Given the description of an element on the screen output the (x, y) to click on. 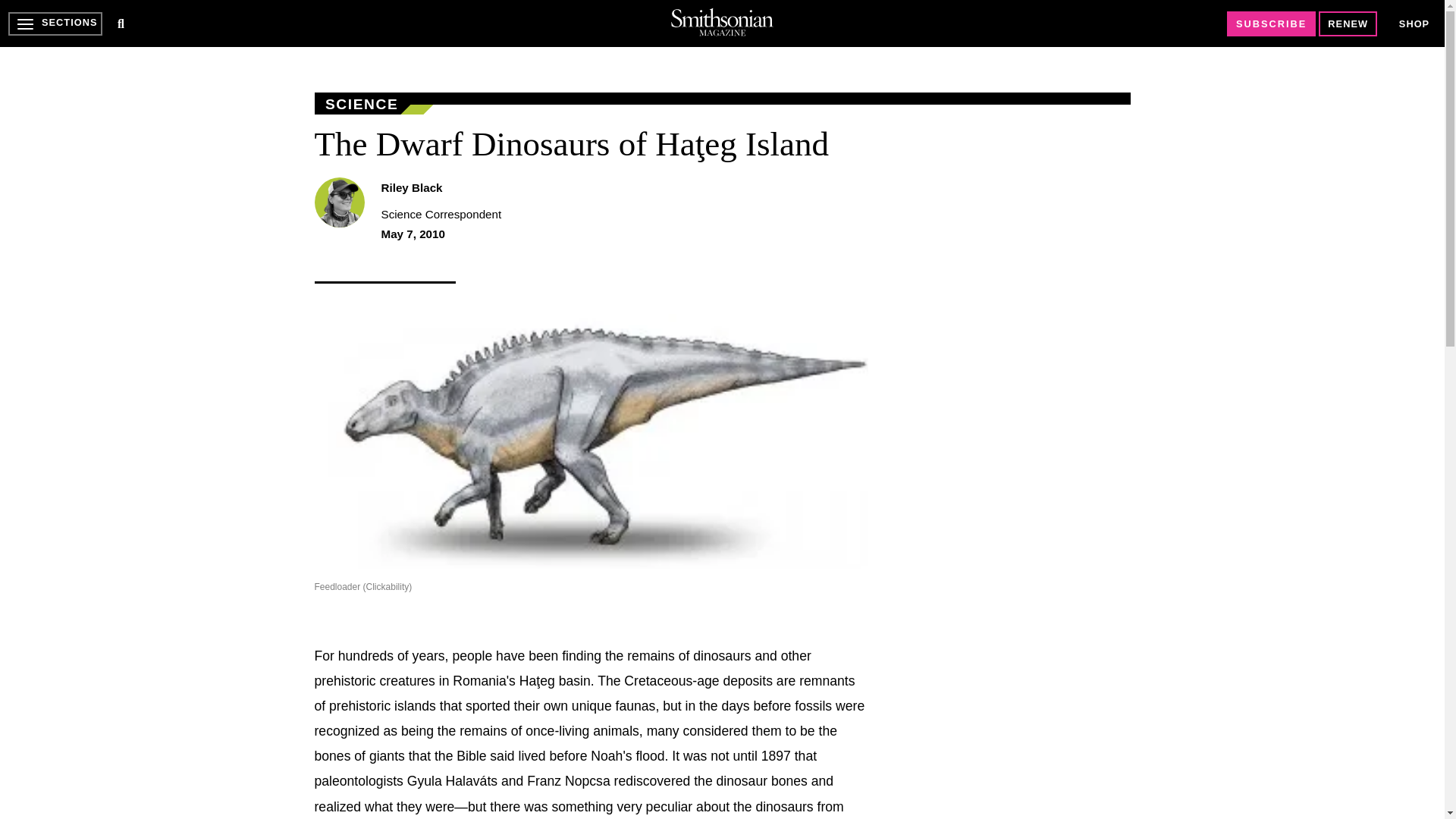
SUBSCRIBE (1271, 23)
RENEW (1348, 23)
SHOP (1413, 23)
SUBSCRIBE (1271, 23)
SHOP (1414, 23)
RENEW (1347, 23)
SECTIONS (55, 23)
